Given the description of an element on the screen output the (x, y) to click on. 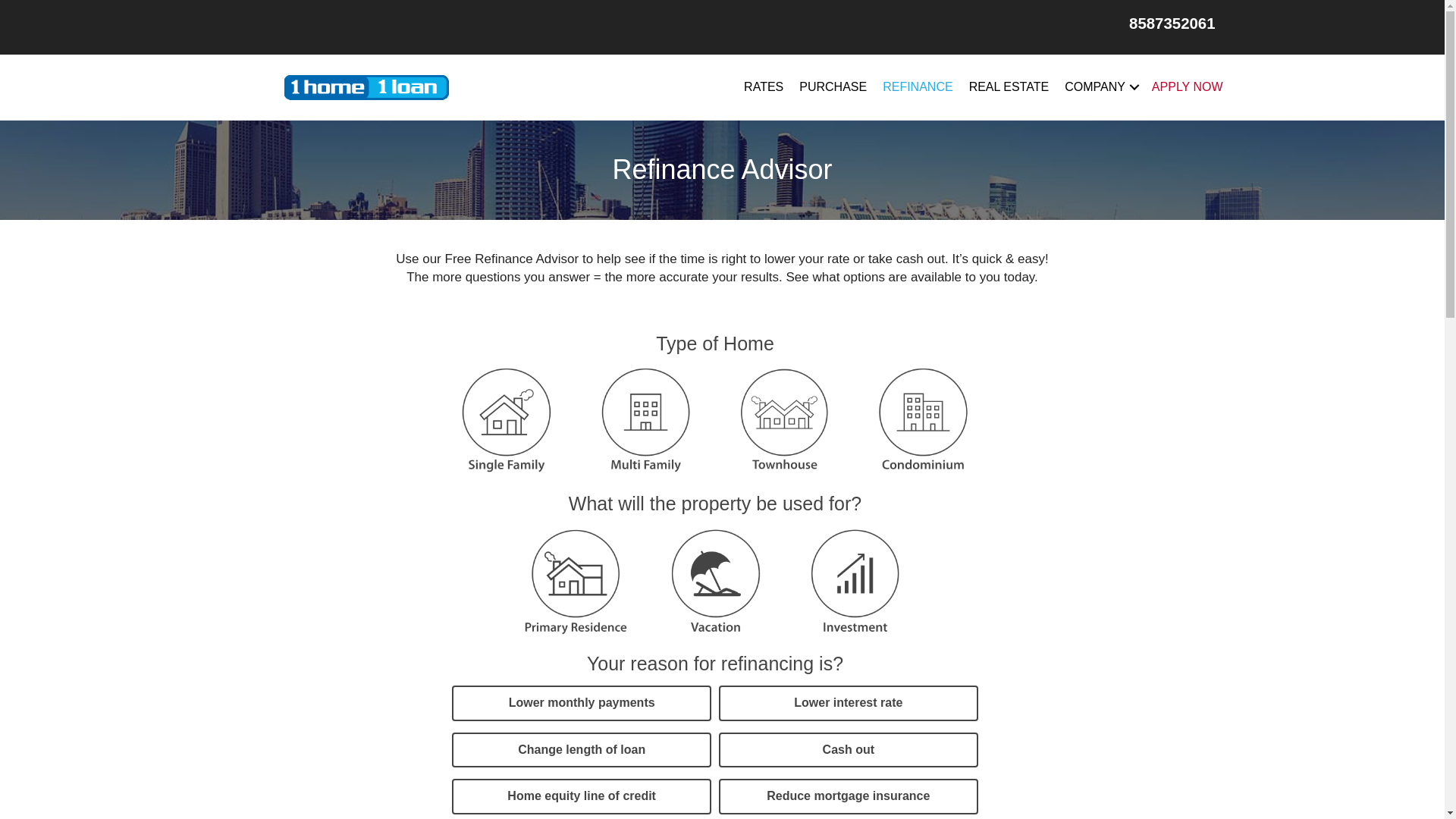
REAL ESTATE Element type: text (1009, 86)
RATES Element type: text (763, 86)
COMPANY Element type: text (1100, 86)
REFINANCE Element type: text (917, 86)
APPLY NOW Element type: text (1187, 86)
8587352061 Element type: text (1171, 23)
PURCHASE Element type: text (832, 86)
